Given the description of an element on the screen output the (x, y) to click on. 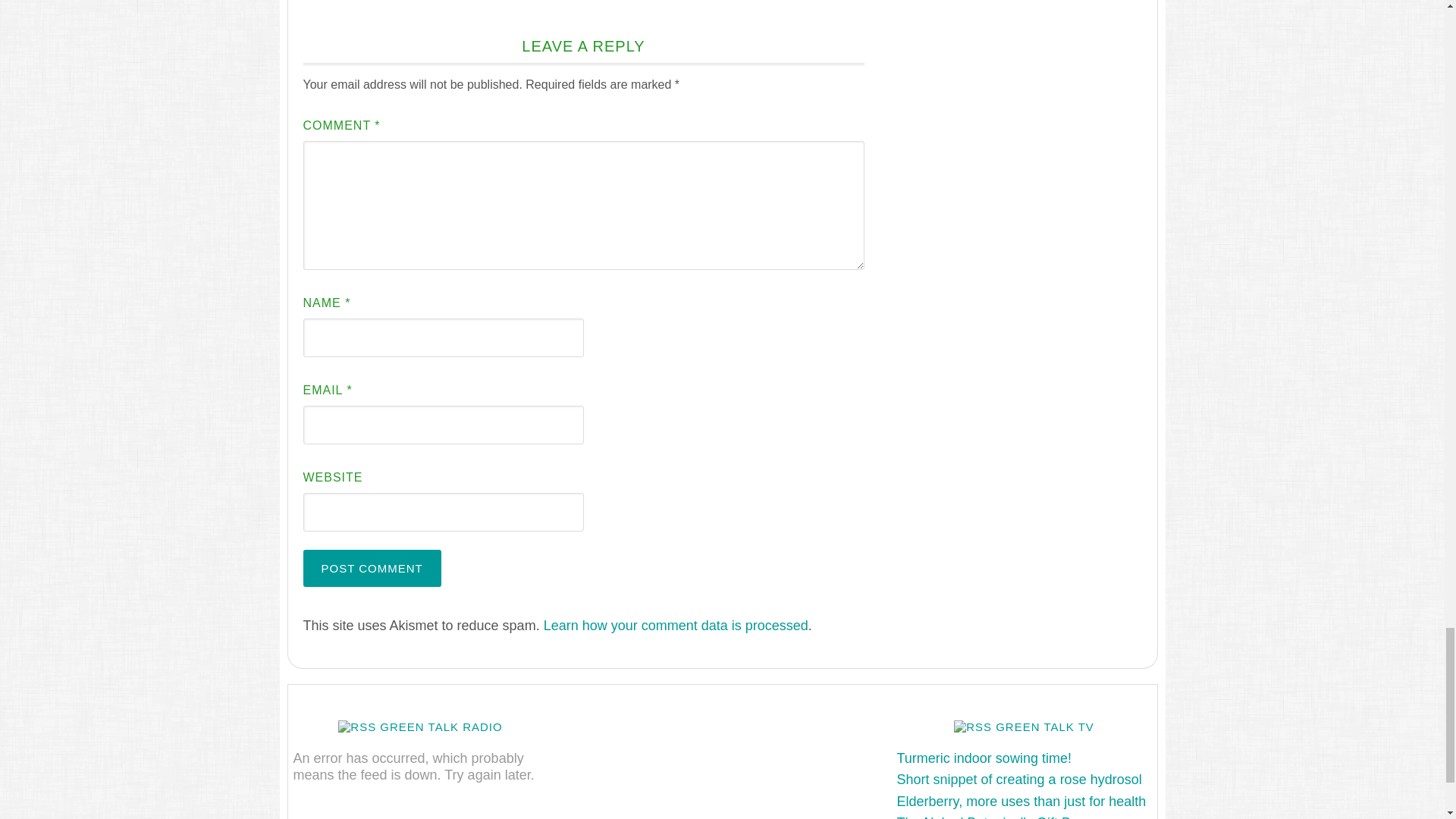
Post Comment (371, 568)
